Given the description of an element on the screen output the (x, y) to click on. 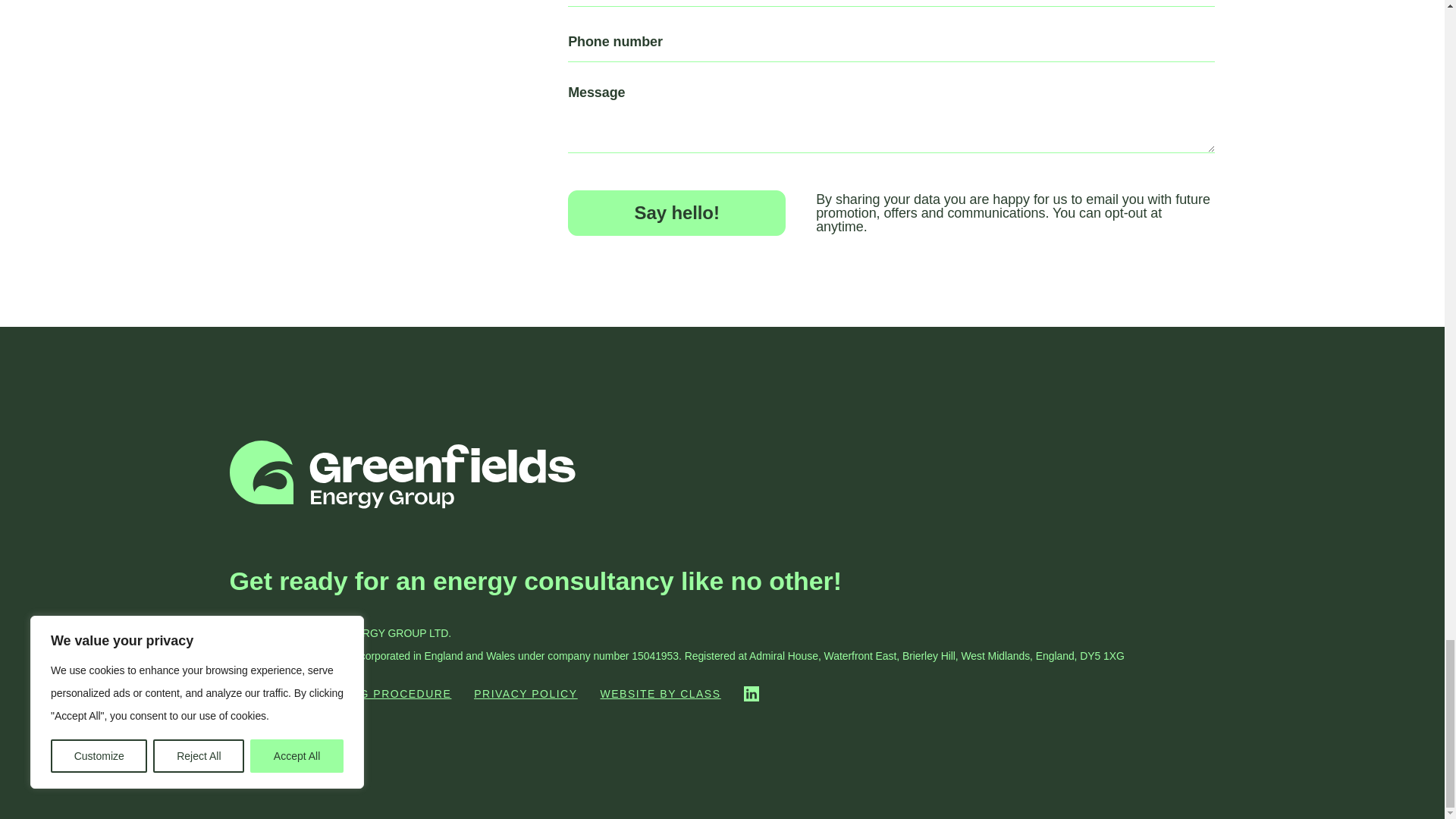
Say hello! (676, 212)
COMPLAINT HANDLING PROCEDURE (339, 693)
CLASS (699, 693)
PRIVACY POLICY (525, 693)
